Given the description of an element on the screen output the (x, y) to click on. 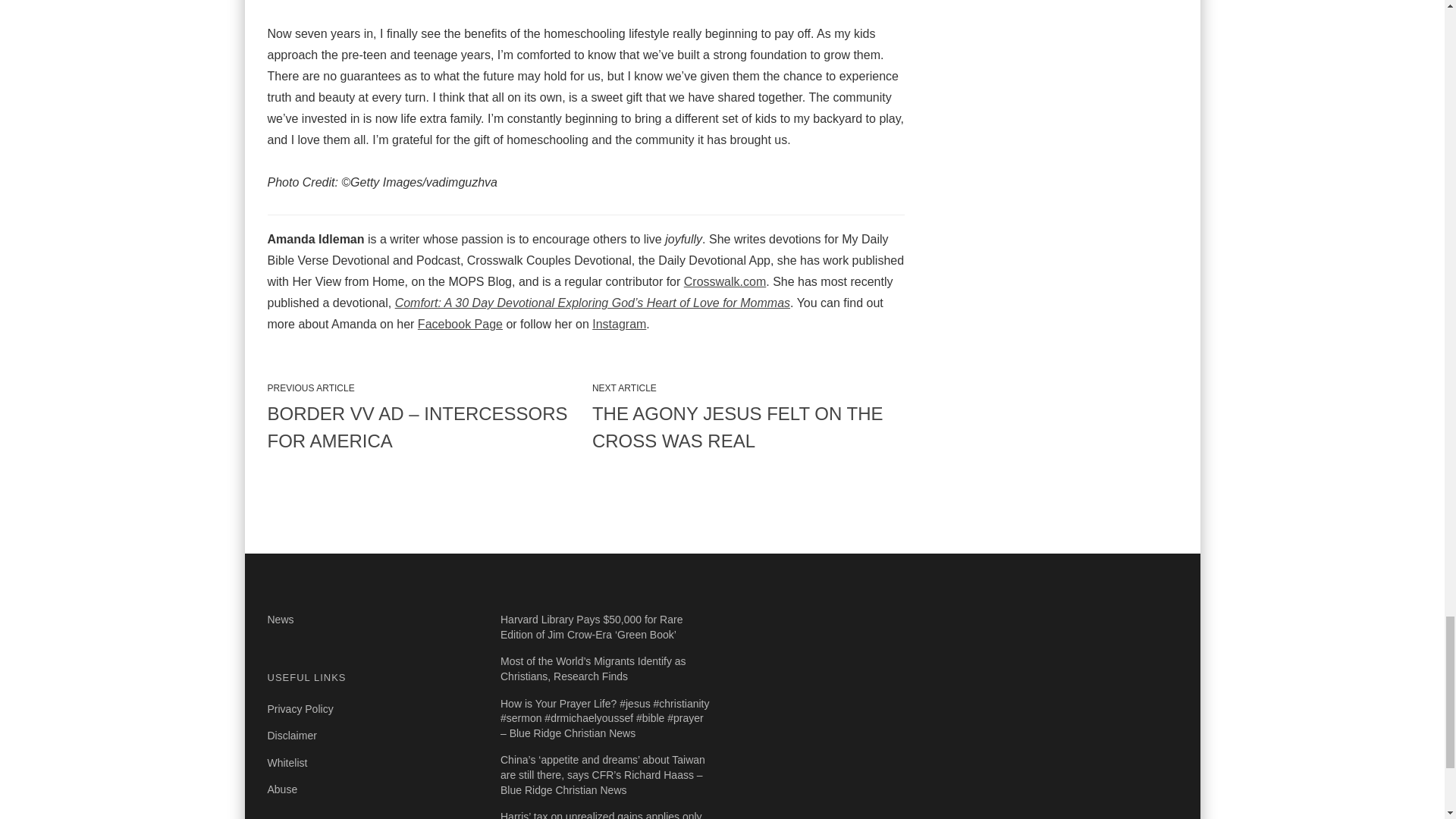
Instagram (619, 323)
Crosswalk.com (724, 281)
Facebook Page (459, 323)
THE AGONY JESUS FELT ON THE CROSS WAS REAL (748, 427)
